Given the description of an element on the screen output the (x, y) to click on. 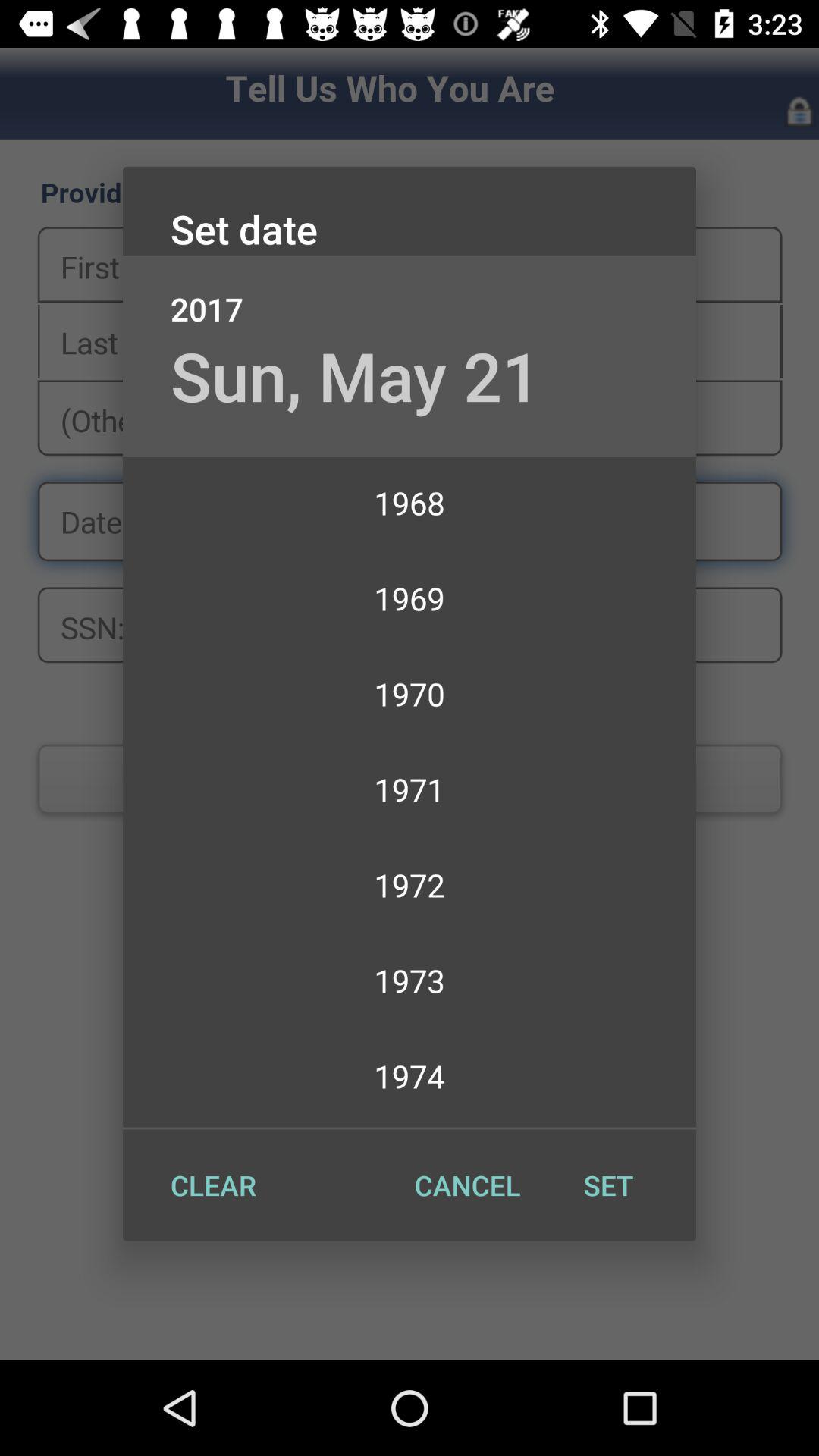
scroll to clear button (213, 1185)
